Given the description of an element on the screen output the (x, y) to click on. 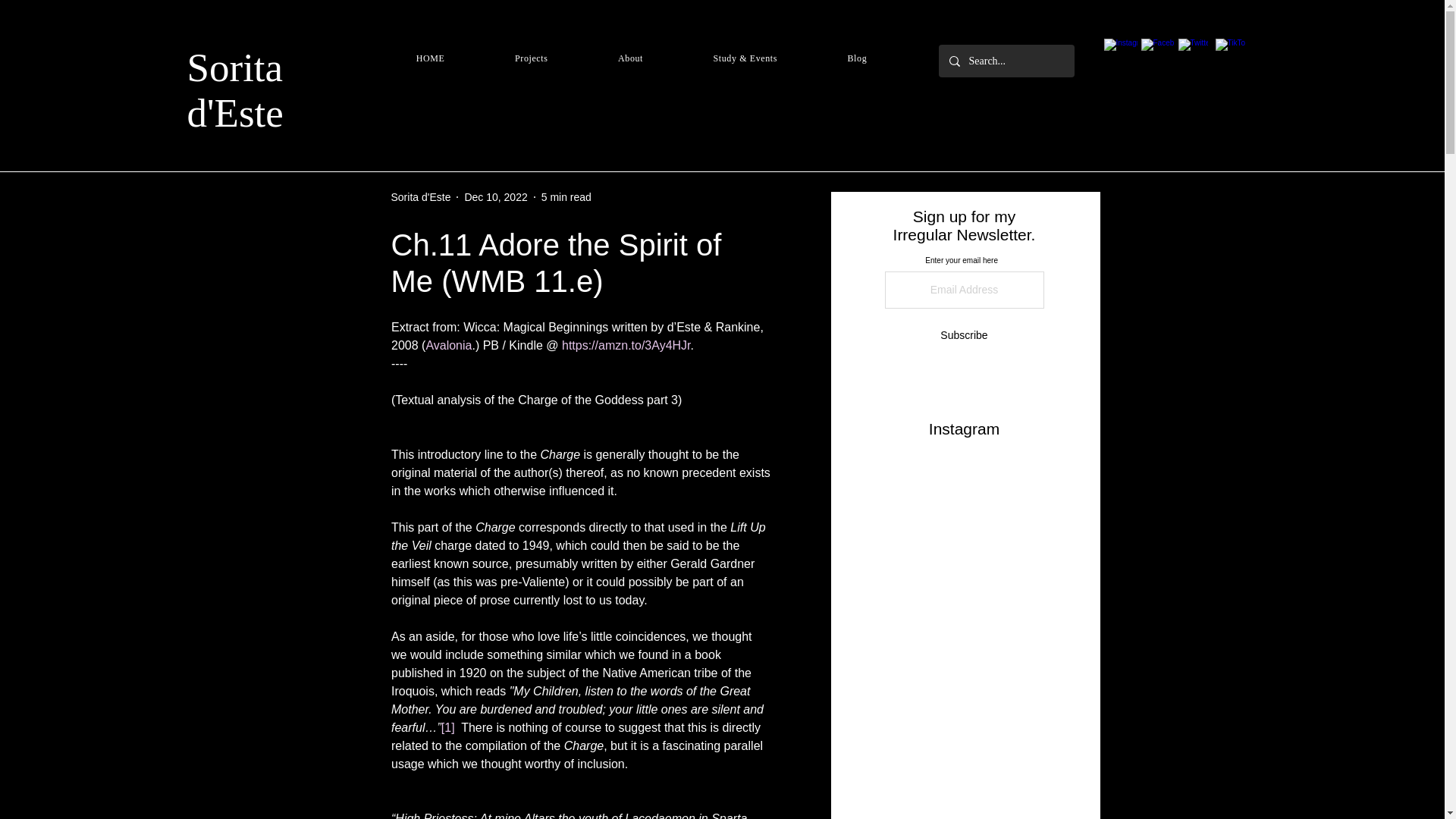
5 min read (566, 196)
Dec 10, 2022 (495, 196)
Avalonia (448, 345)
Blog (856, 58)
Sorita d'Este (421, 197)
Sorita d'Este (234, 90)
Sorita d'Este (421, 197)
About (630, 58)
HOME (430, 58)
Projects (531, 58)
